Given the description of an element on the screen output the (x, y) to click on. 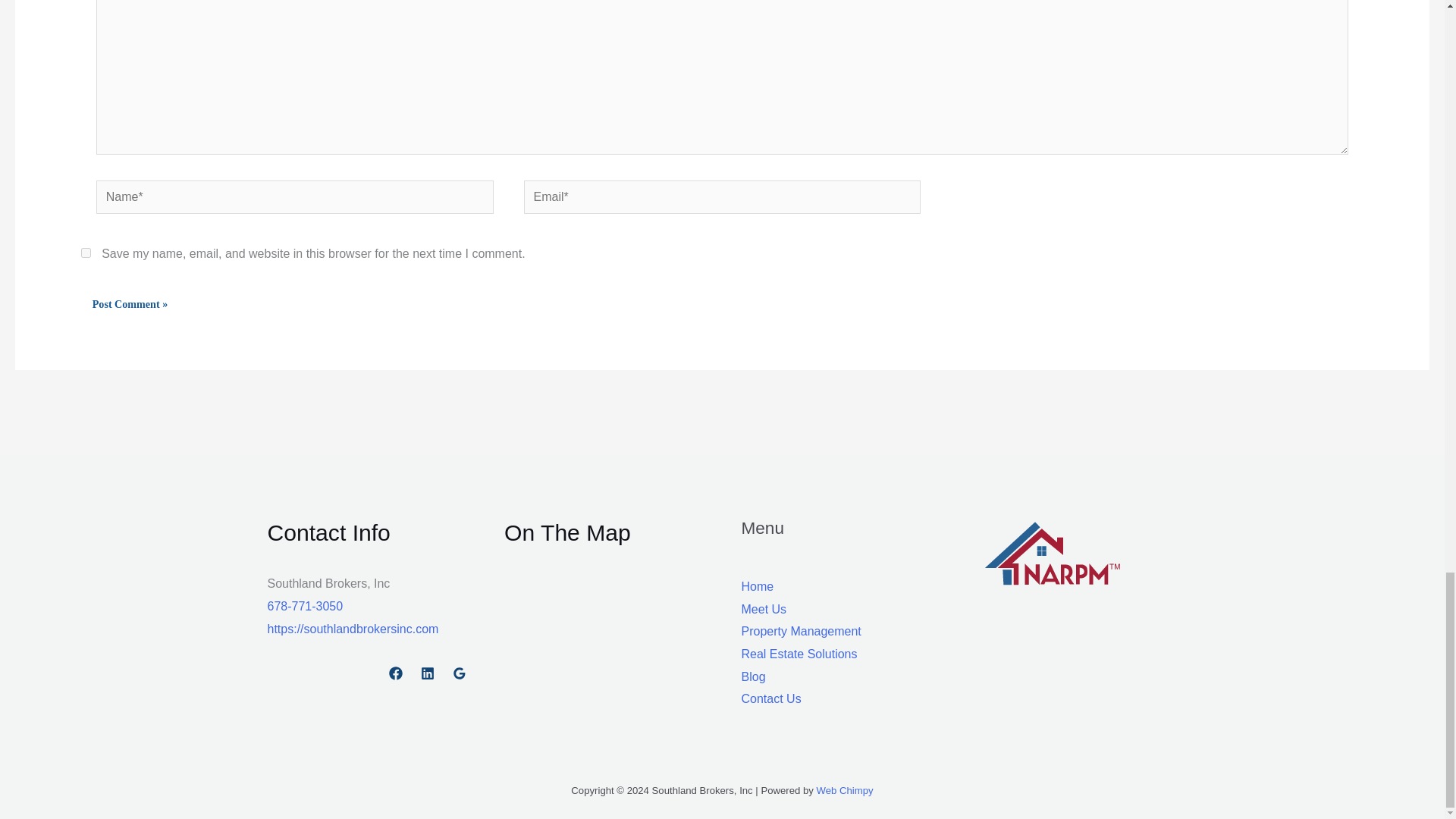
yes (85, 252)
678-771-3050 (304, 605)
